Given the description of an element on the screen output the (x, y) to click on. 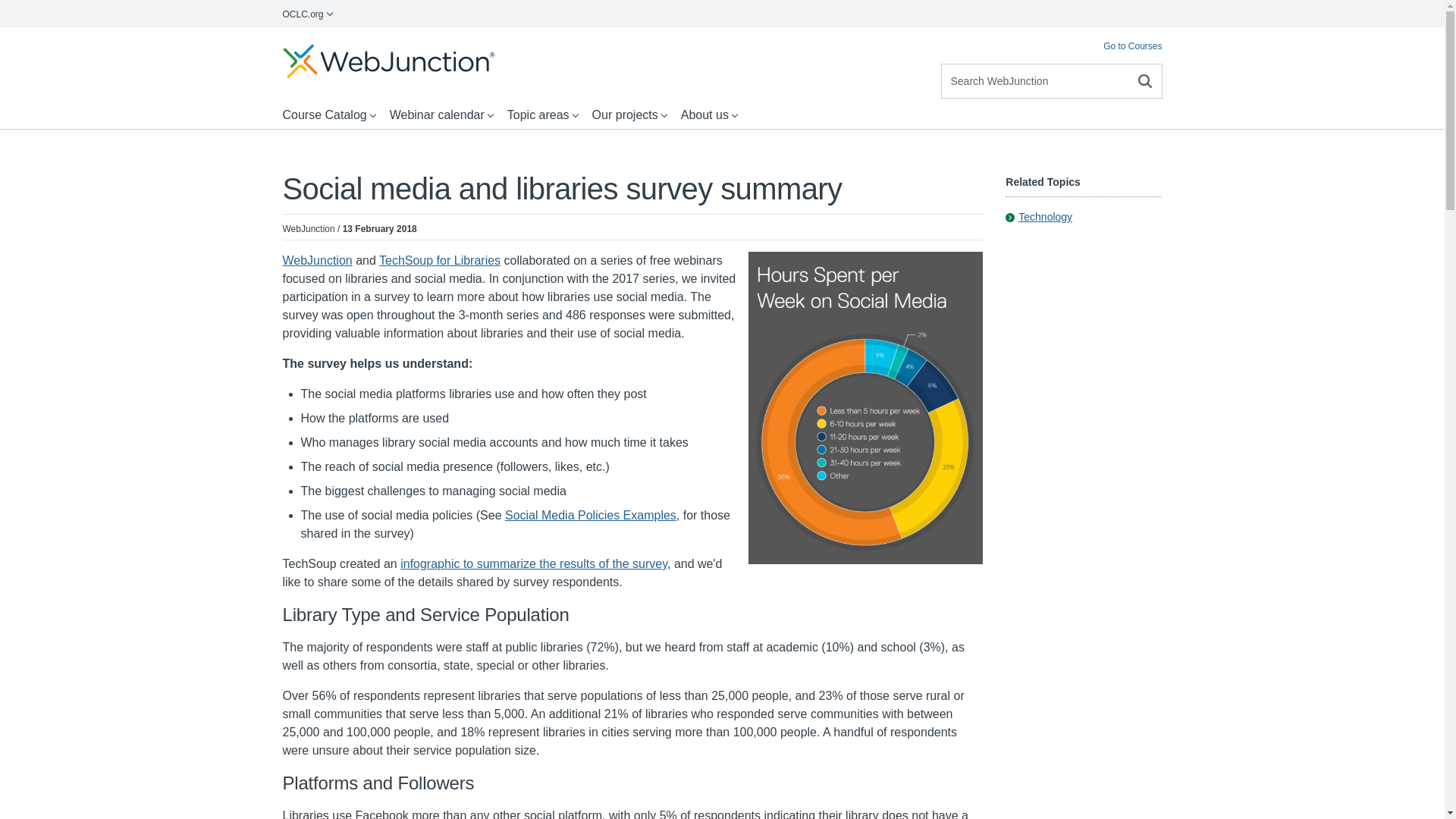
Go to WebJunction.org home page (388, 61)
Webinar calendar (442, 114)
WebJunction (317, 259)
Topic areas (543, 114)
Our projects (630, 114)
Technology (1038, 217)
Skip to page content. (56, 42)
Go to Courses (1132, 46)
TechSoup for Libraries (439, 259)
Course Catalog (329, 114)
Go to Courses (1132, 46)
About us (710, 114)
Skip navigation and go directly to page content (56, 42)
Social Media Policies Examples (591, 514)
OCLC.org Home (307, 14)
